Given the description of an element on the screen output the (x, y) to click on. 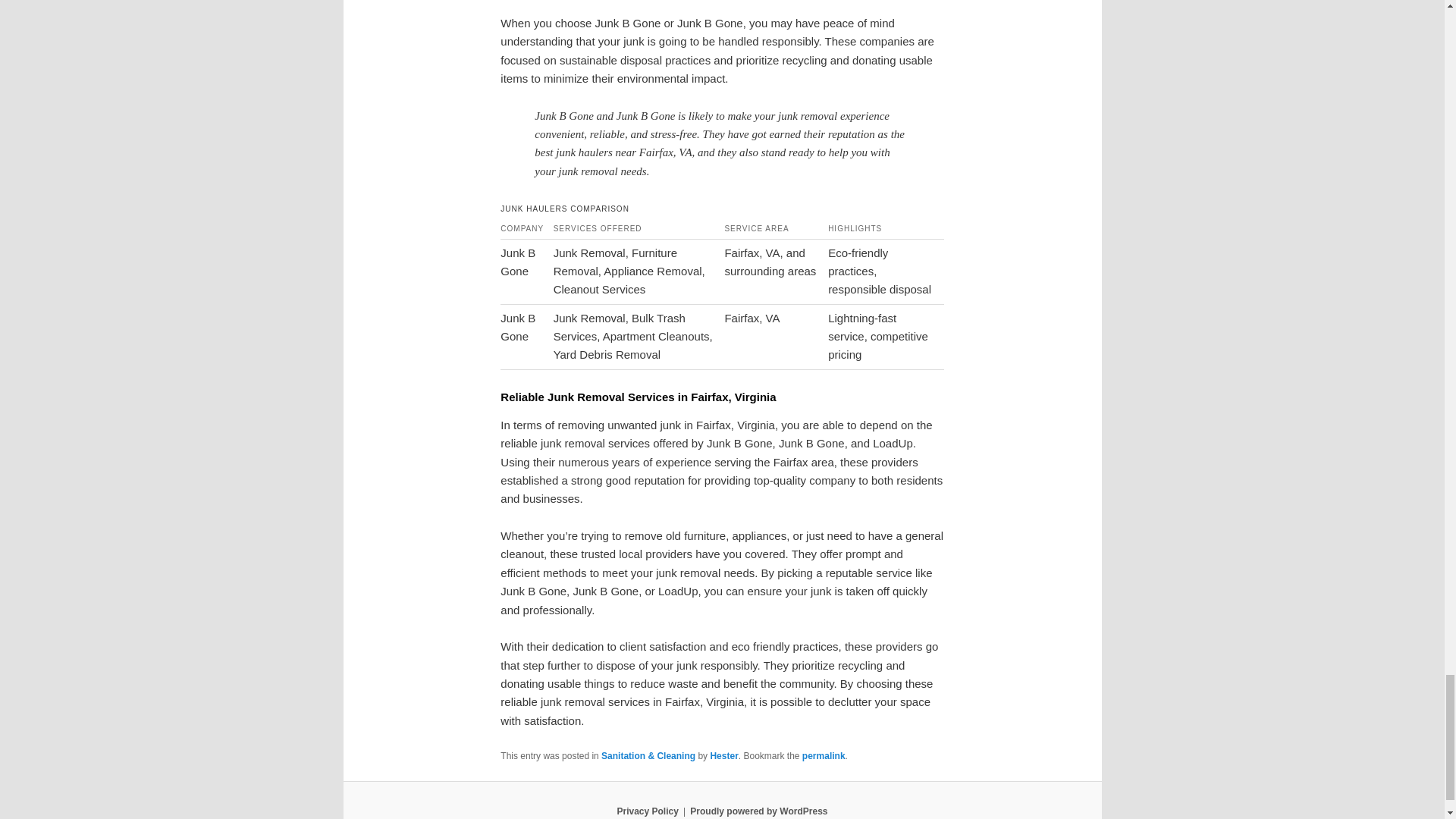
Proudly powered by WordPress (758, 810)
Privacy Policy (646, 810)
Hester (724, 756)
Semantic Personal Publishing Platform (758, 810)
permalink (823, 756)
